Given the description of an element on the screen output the (x, y) to click on. 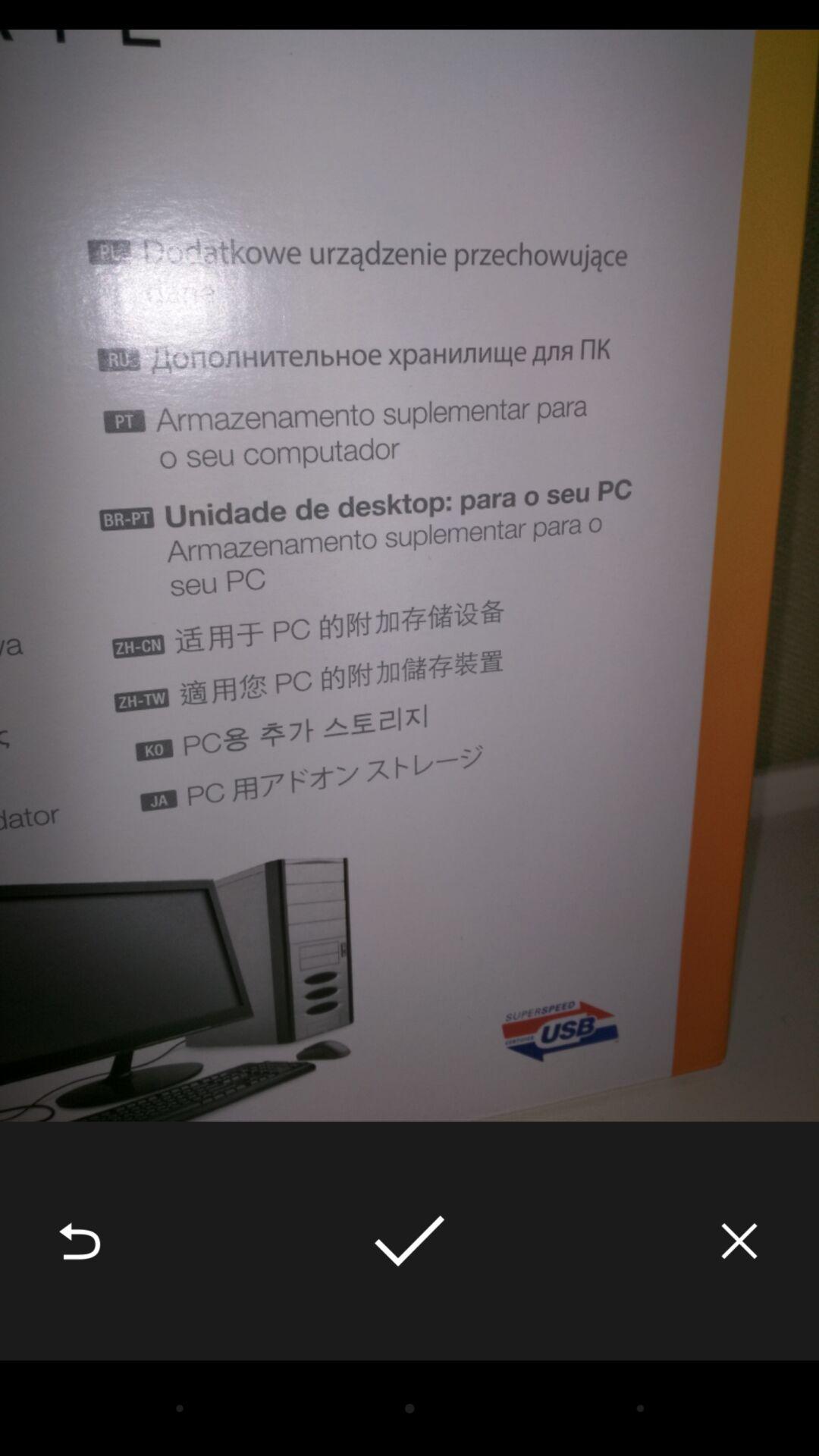
launch icon at the bottom left corner (79, 1240)
